Given the description of an element on the screen output the (x, y) to click on. 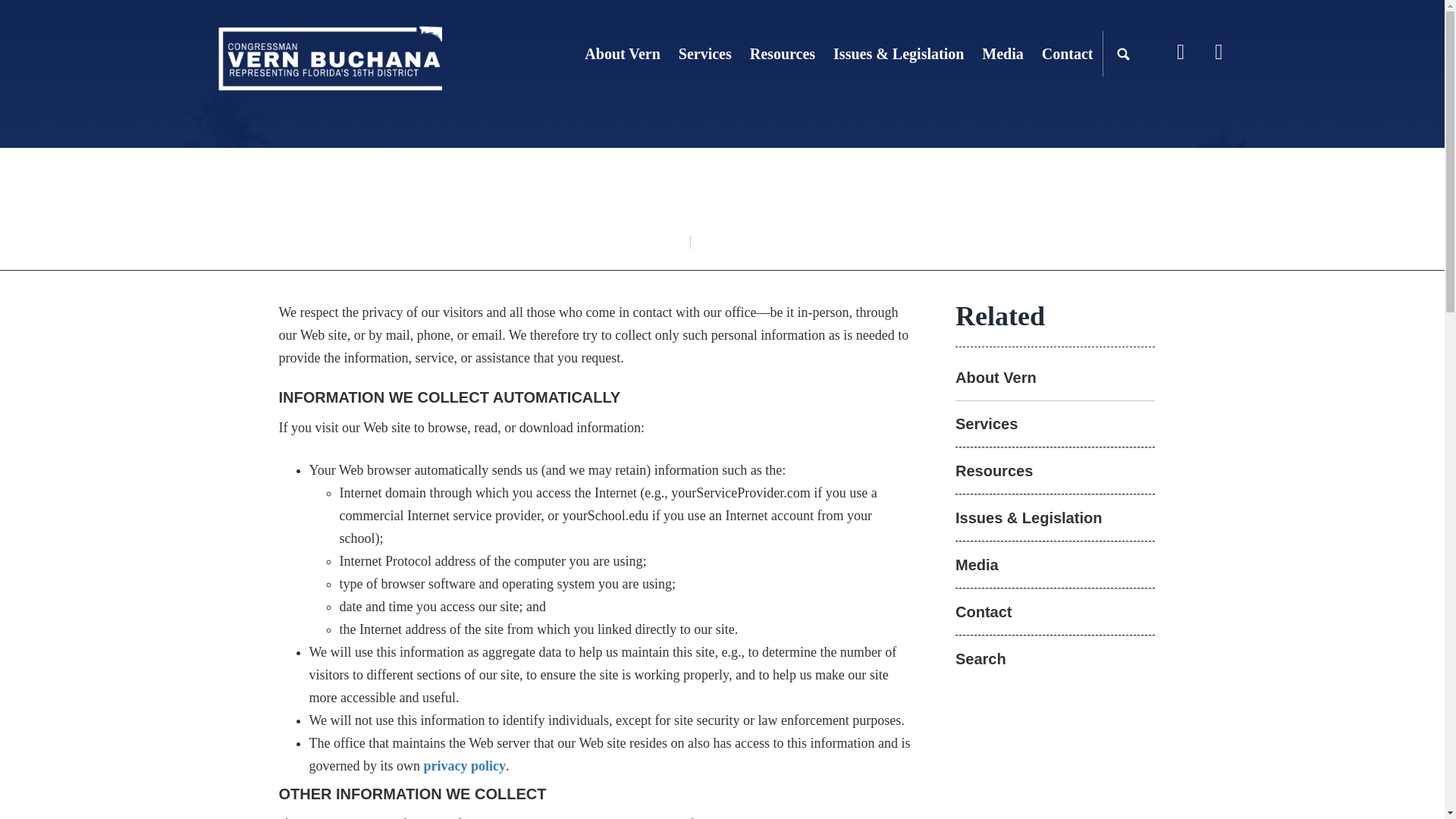
About Vern (621, 53)
Resources (782, 53)
CONGRESSMAN VERN BUCHANAN (327, 57)
privacy policy of House Web Services (464, 765)
Services (705, 53)
